Given the description of an element on the screen output the (x, y) to click on. 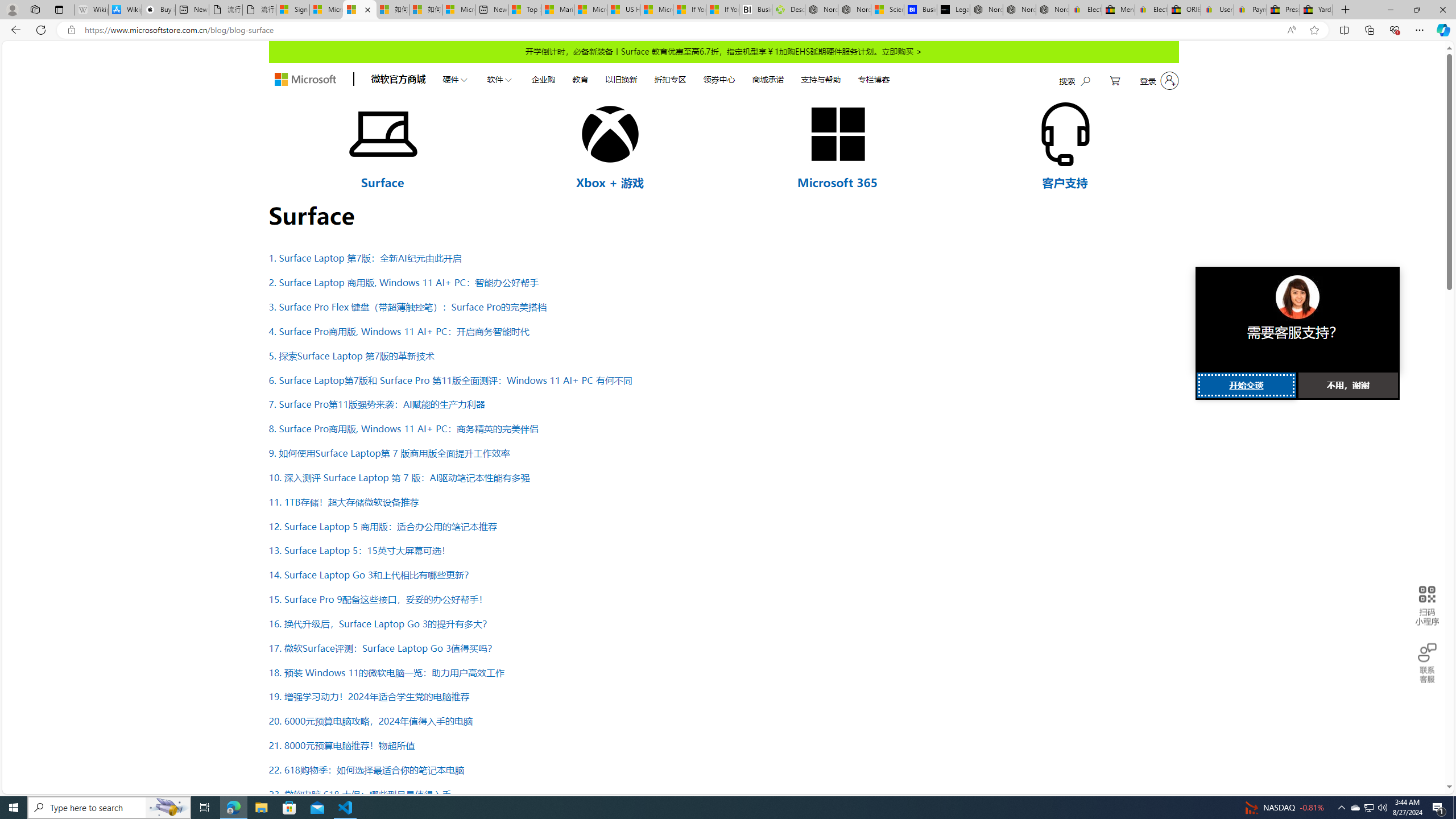
Wikipedia - Sleeping (91, 9)
Descarga Driver Updater (788, 9)
Surface (382, 182)
Sign in to your Microsoft account (292, 9)
Top Stories - MSN (524, 9)
